Given the description of an element on the screen output the (x, y) to click on. 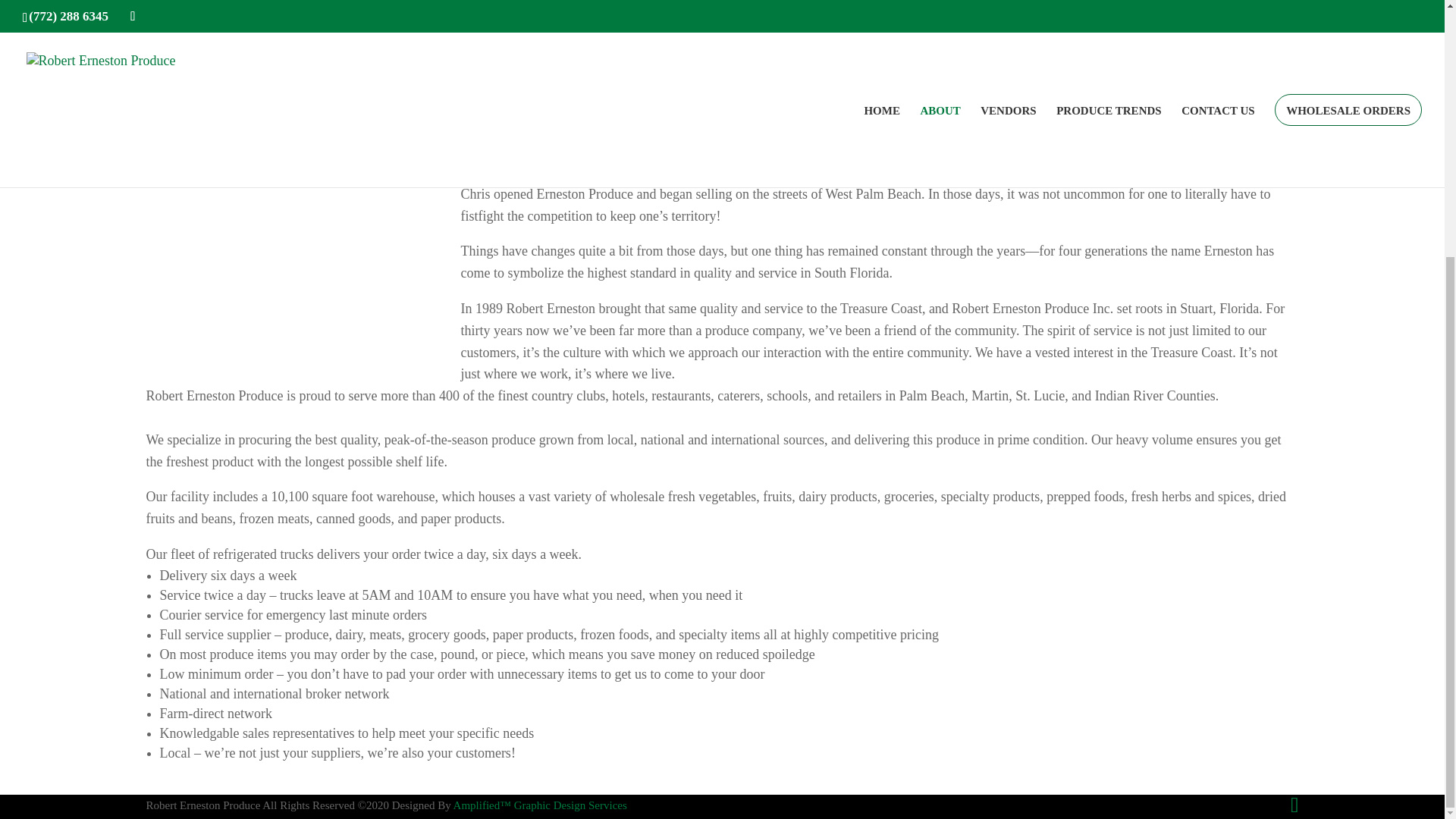
WHAT WE DO (202, 114)
HISTORY (187, 94)
WHY CHOOSE ROBERT ERNESTON PRODUCE? (305, 133)
